Given the description of an element on the screen output the (x, y) to click on. 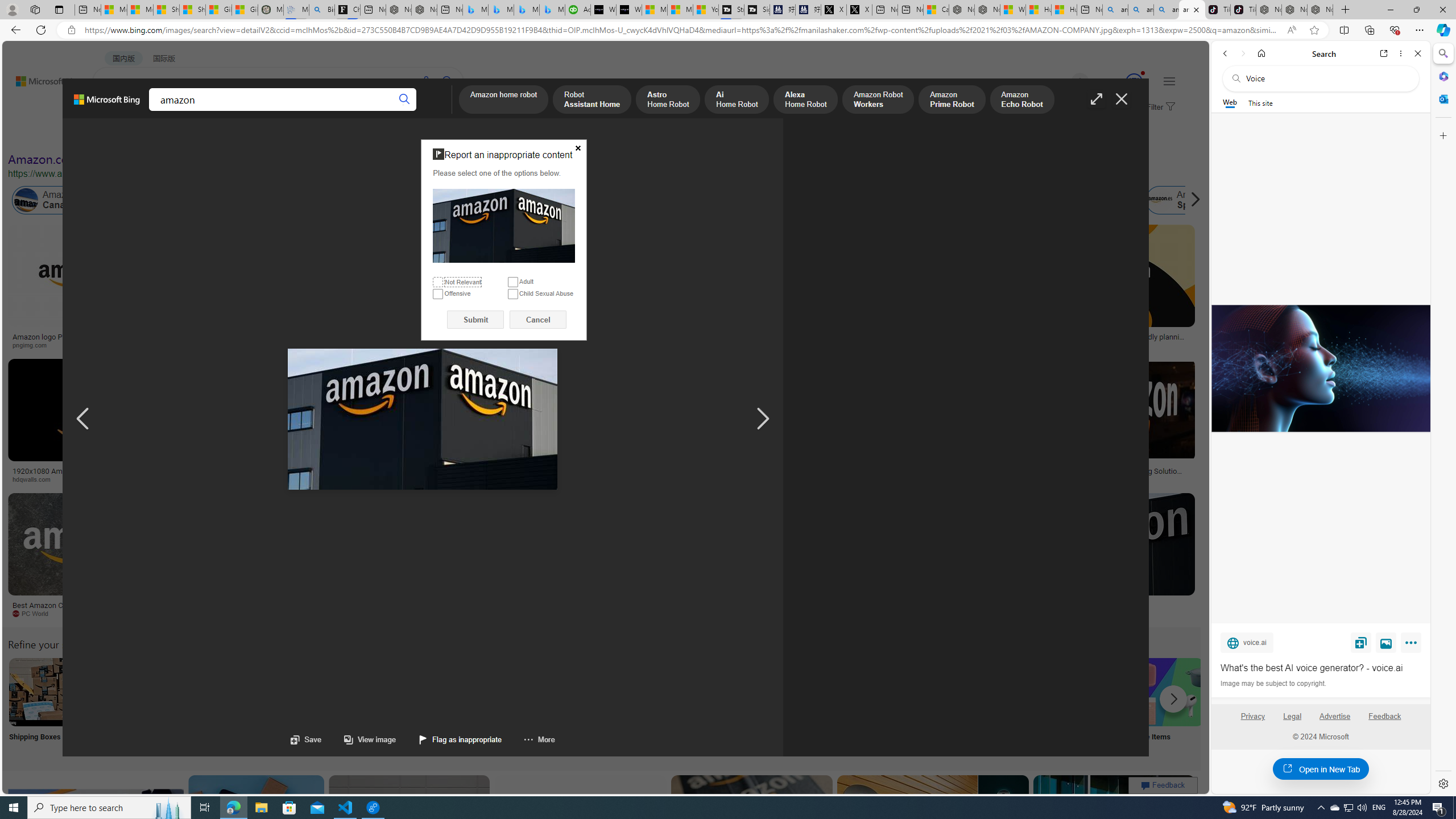
Date (336, 135)
Amazon Canada Online (25, 200)
downdetector.ae (869, 344)
Scroll more suggestions right (1173, 698)
Search the web (1326, 78)
ACADEMIC (311, 111)
